Given the description of an element on the screen output the (x, y) to click on. 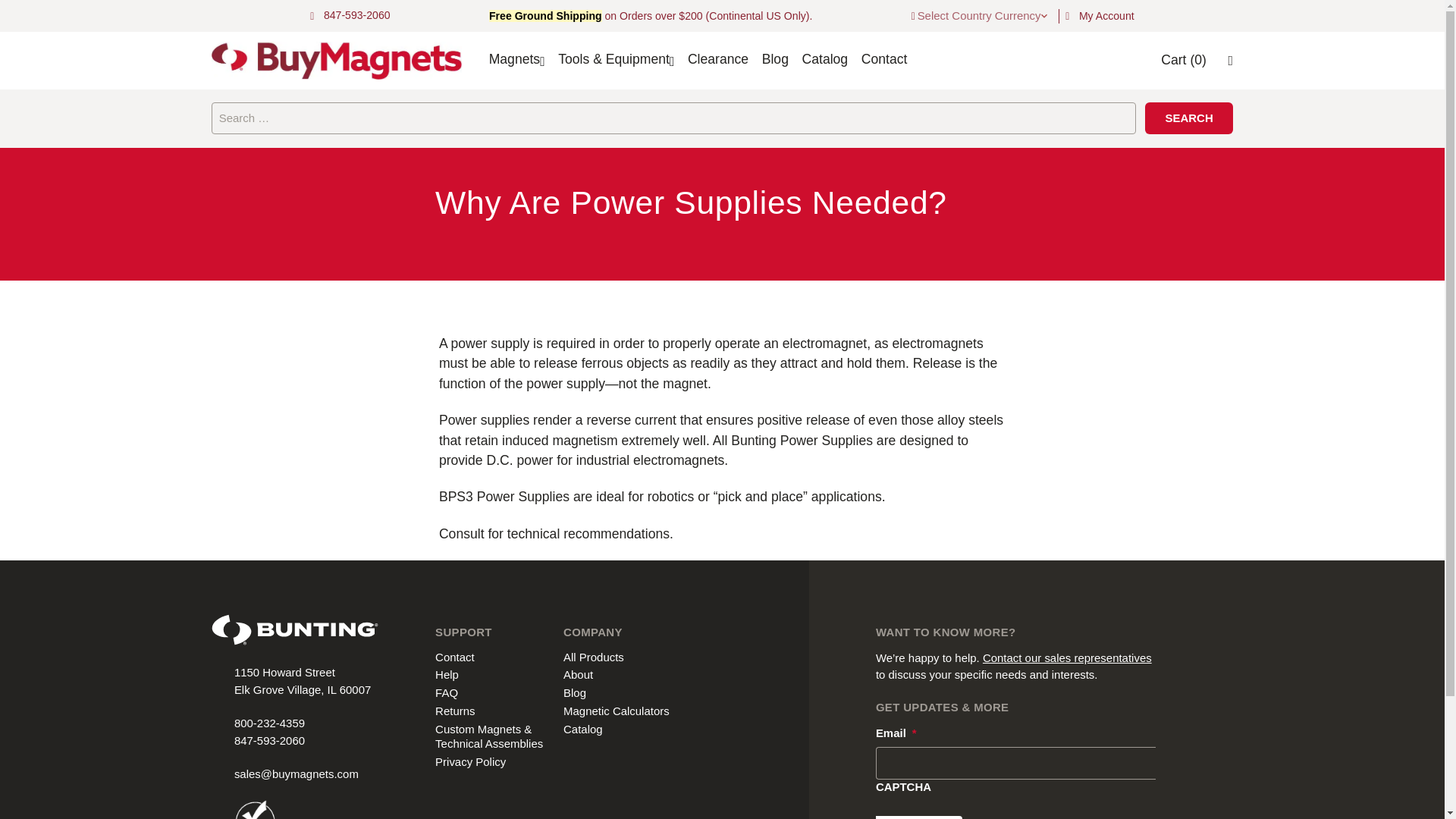
Magnets (514, 58)
Search (1188, 118)
Search (1188, 118)
View your shopping cart (1183, 59)
847-593-2060 (356, 15)
Sign Up (919, 817)
My Account (1106, 15)
